Given the description of an element on the screen output the (x, y) to click on. 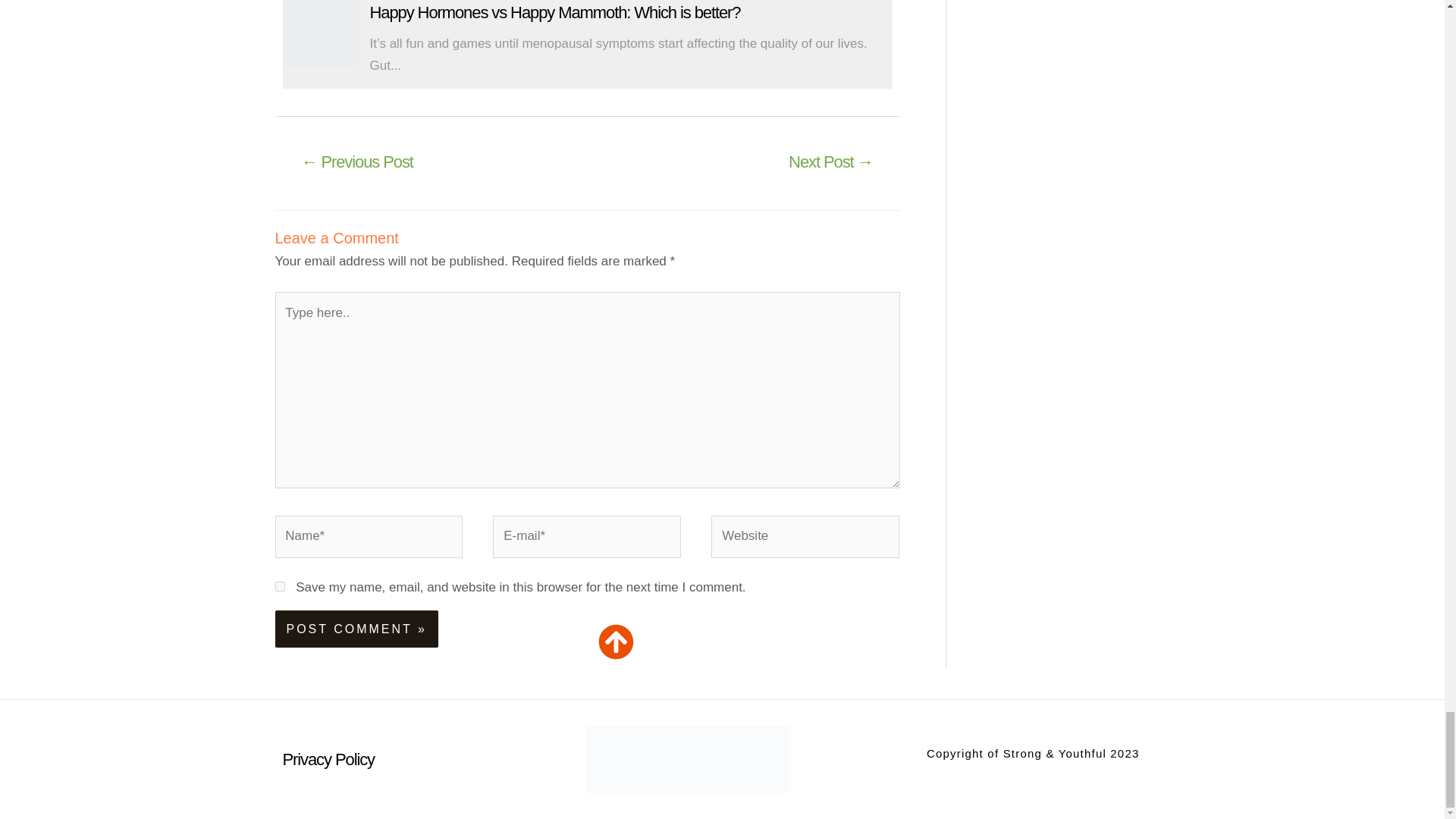
yes (279, 586)
Happy Hormones vs Happy Mammoth: Which is better? (555, 12)
Happy Hormones vs Happy Mammoth: Which is better? (320, 33)
